Given the description of an element on the screen output the (x, y) to click on. 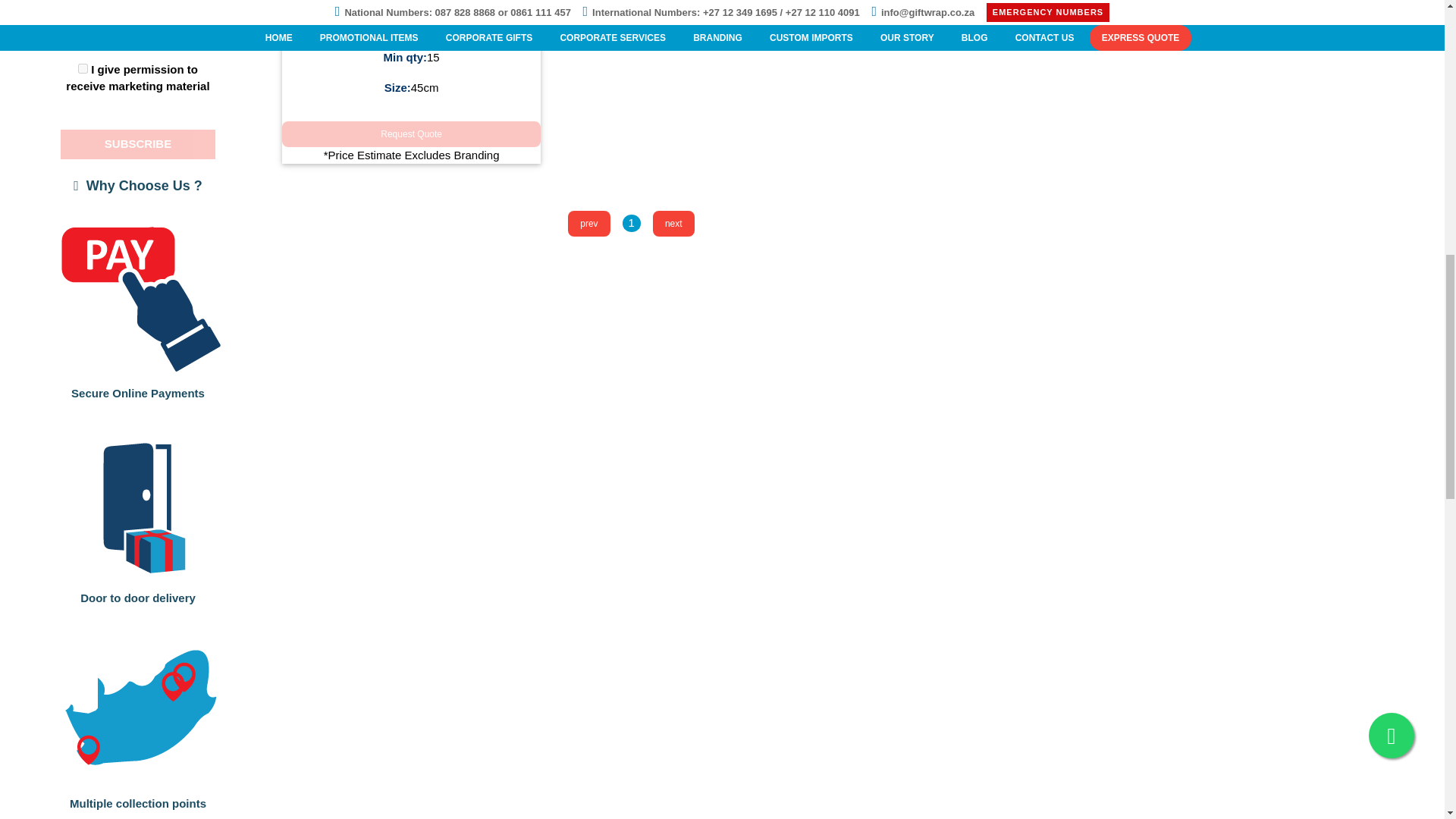
yes (82, 68)
